Given the description of an element on the screen output the (x, y) to click on. 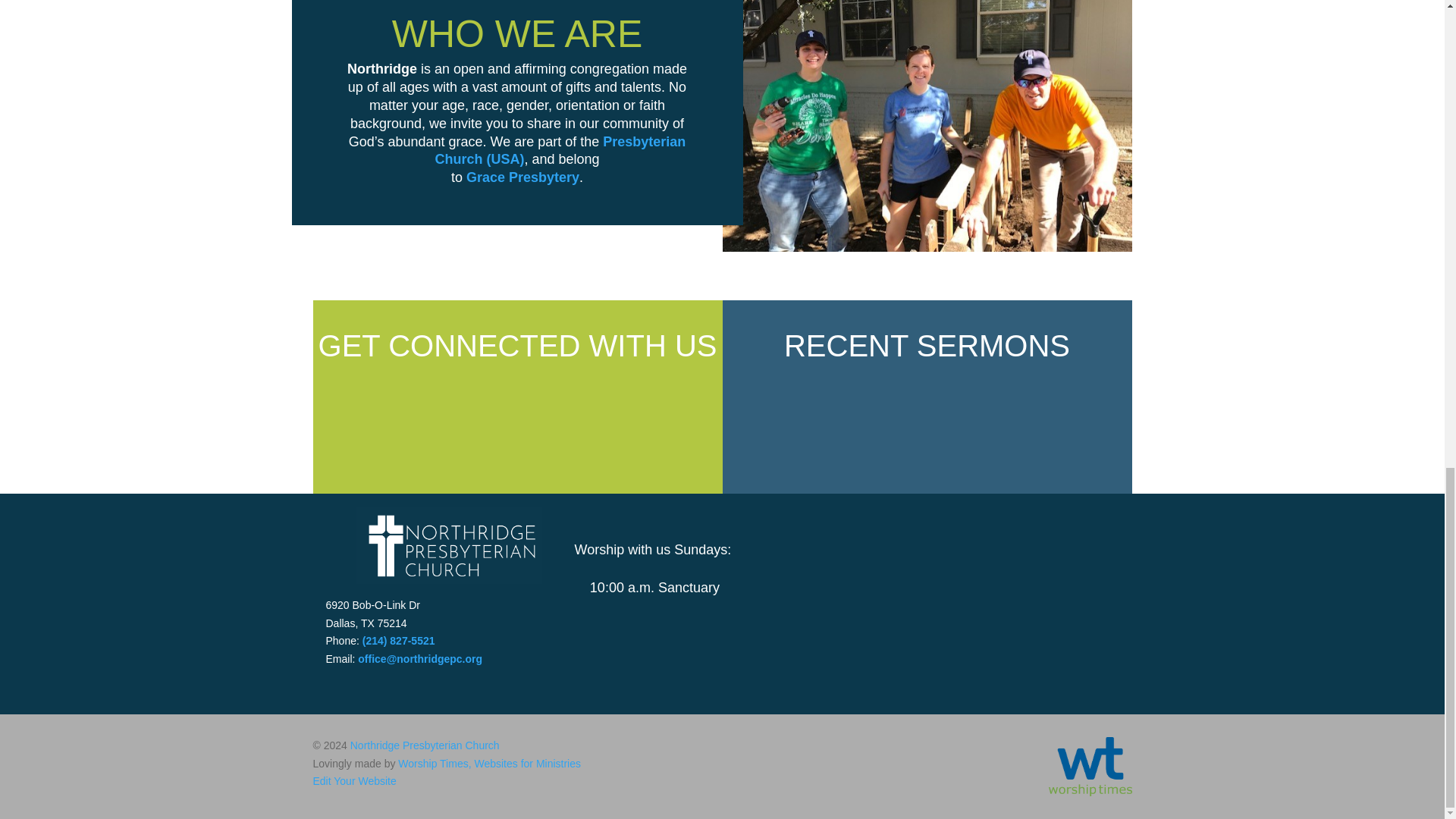
Worship Times Website (1089, 792)
Northridge Presbyterian Church (424, 745)
Northridge Presbyterian Church (449, 544)
